Given the description of an element on the screen output the (x, y) to click on. 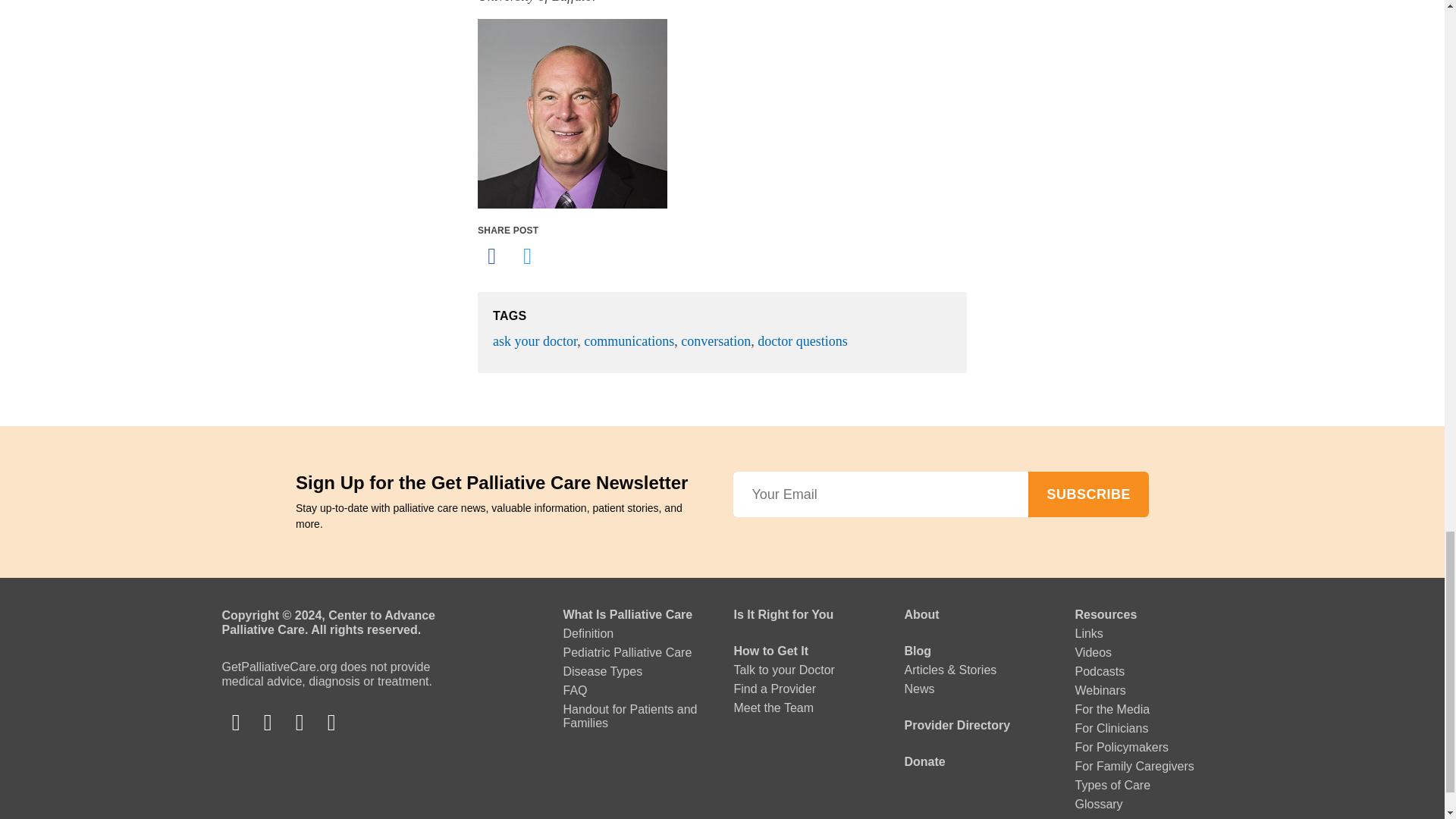
Subscribe (1087, 494)
